Given the description of an element on the screen output the (x, y) to click on. 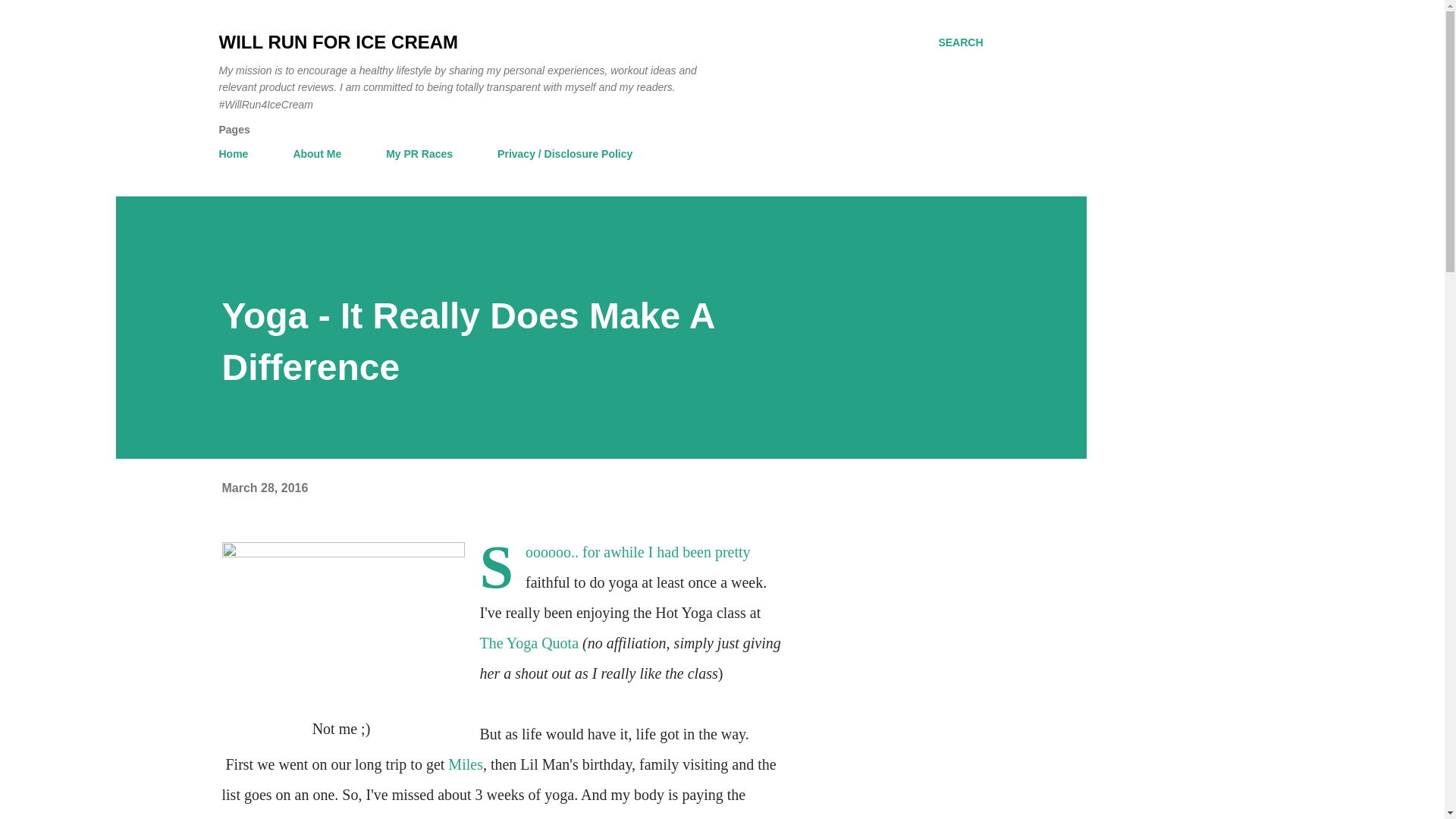
Home (237, 153)
About Me (316, 153)
permanent link (264, 487)
Miles (465, 764)
SEARCH (959, 42)
The Yoga Quota (528, 642)
March 28, 2016 (264, 487)
WILL RUN FOR ICE CREAM (338, 41)
My PR Races (419, 153)
